Given the description of an element on the screen output the (x, y) to click on. 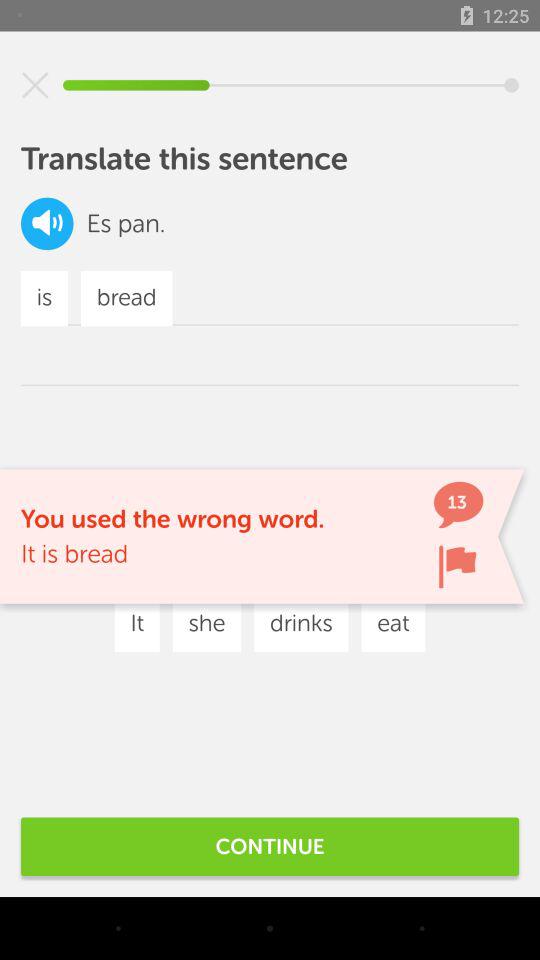
tap the icon next to drinks icon (393, 624)
